Given the description of an element on the screen output the (x, y) to click on. 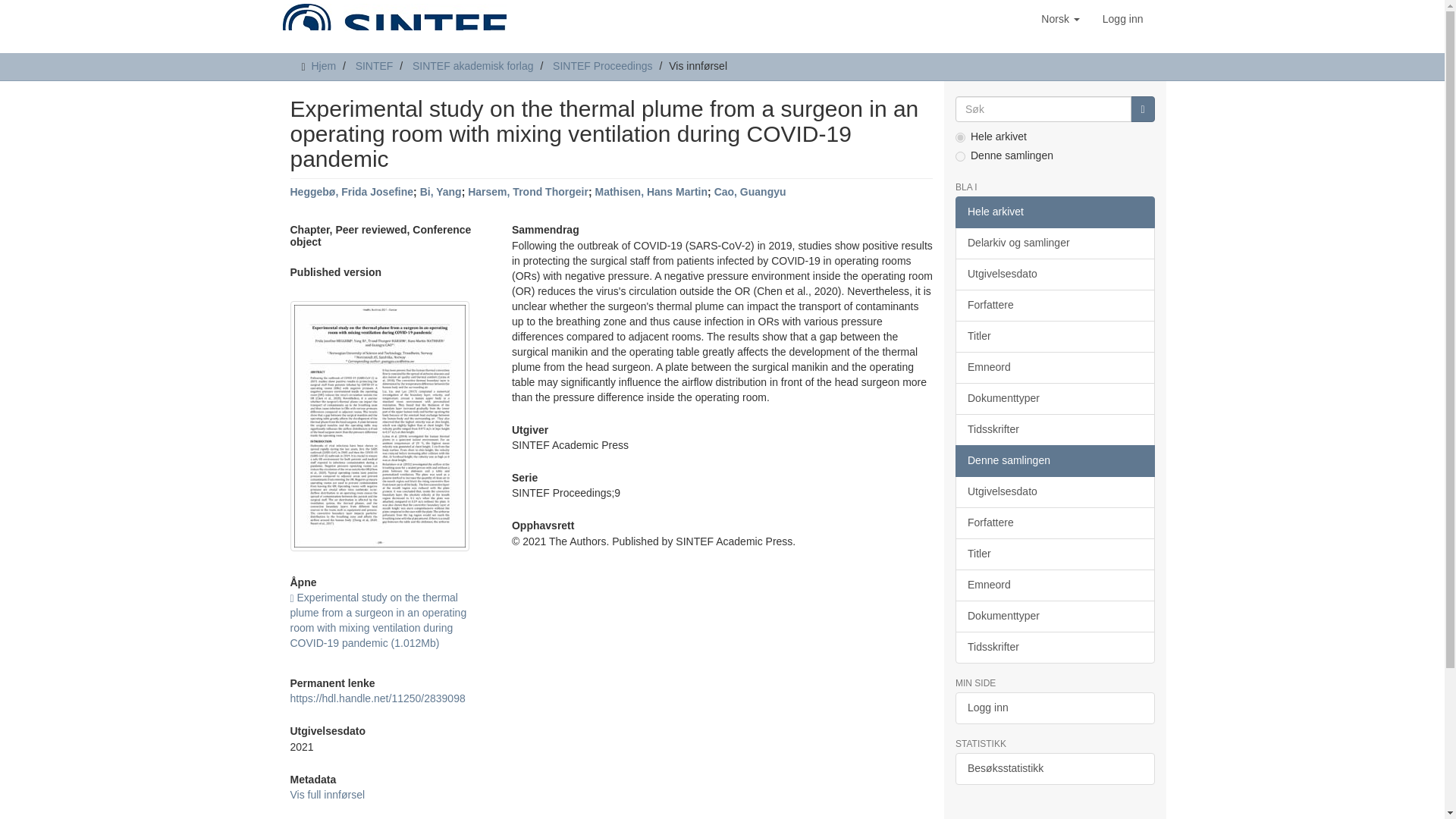
SINTEF (374, 65)
Logg inn (1122, 18)
Norsk  (1059, 18)
Hele arkivet (1054, 212)
Hjem (323, 65)
SINTEF Proceedings (602, 65)
Cao, Guangyu (750, 191)
Harsem, Trond Thorgeir (527, 191)
Bi, Yang (440, 191)
Mathisen, Hans Martin (650, 191)
